Given the description of an element on the screen output the (x, y) to click on. 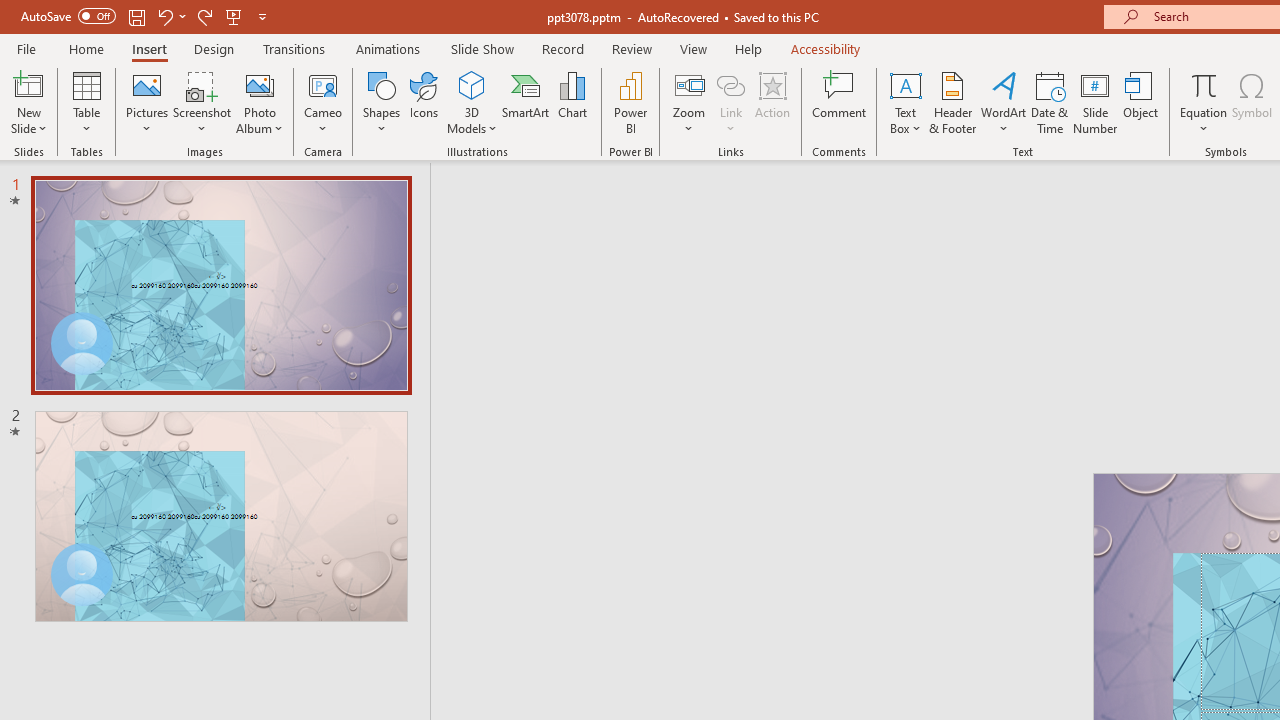
Link (731, 102)
Draw Horizontal Text Box (905, 84)
Symbol... (1252, 102)
Comment (839, 102)
Icons (424, 102)
3D Models (472, 102)
